Given the description of an element on the screen output the (x, y) to click on. 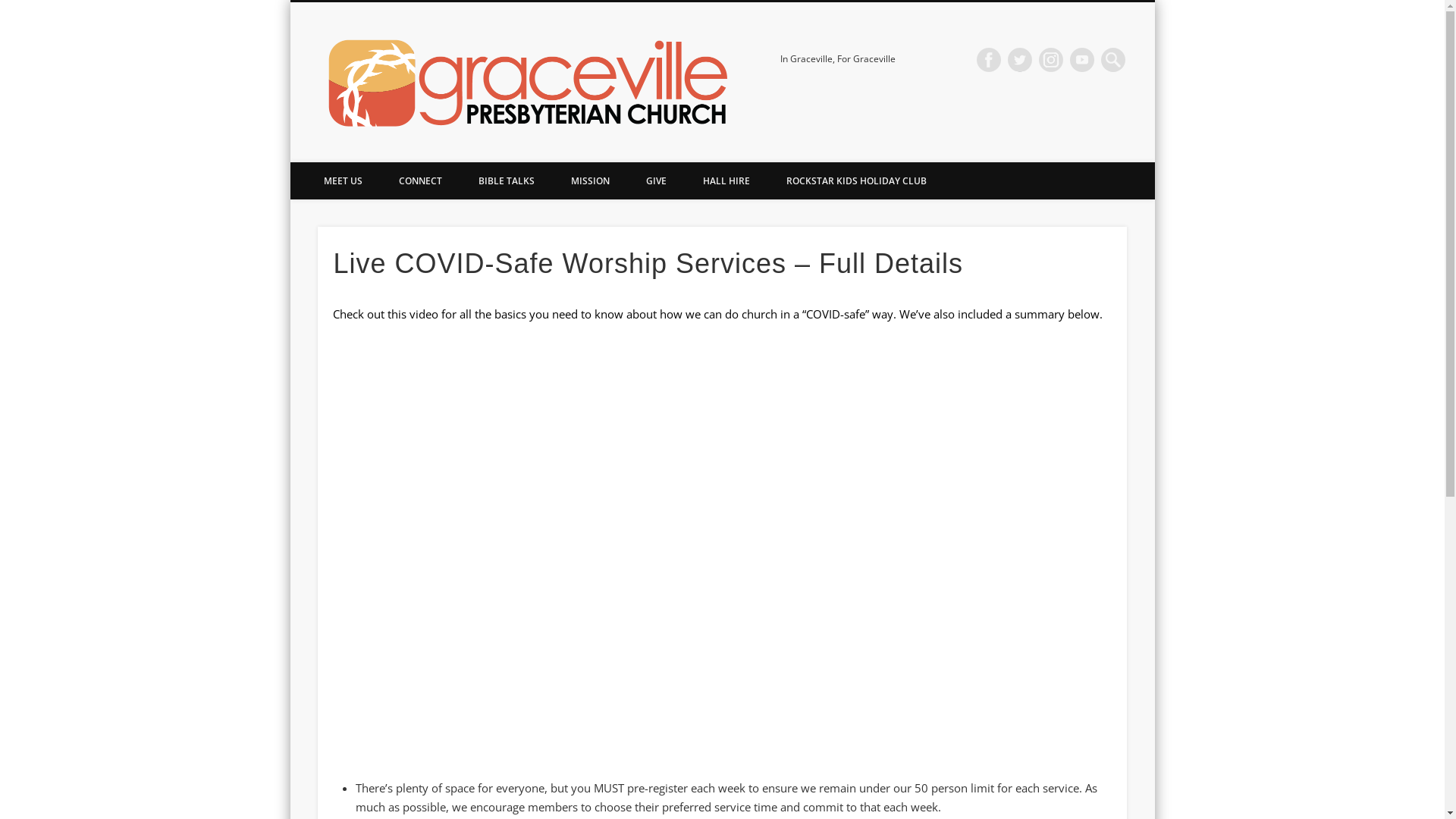
Flickr Element type: text (1050, 59)
ROCKSTAR KIDS HOLIDAY CLUB  Element type: text (856, 180)
GIVE Element type: text (655, 180)
Search Element type: text (11, 9)
Facebook Element type: text (988, 59)
HALL HIRE Element type: text (725, 180)
CONNECT Element type: text (420, 180)
MISSION Element type: text (589, 180)
Twitter Element type: text (1019, 59)
MEET US Element type: text (341, 180)
BIBLE TALKS Element type: text (505, 180)
Vimeo Element type: text (1082, 59)
